Given the description of an element on the screen output the (x, y) to click on. 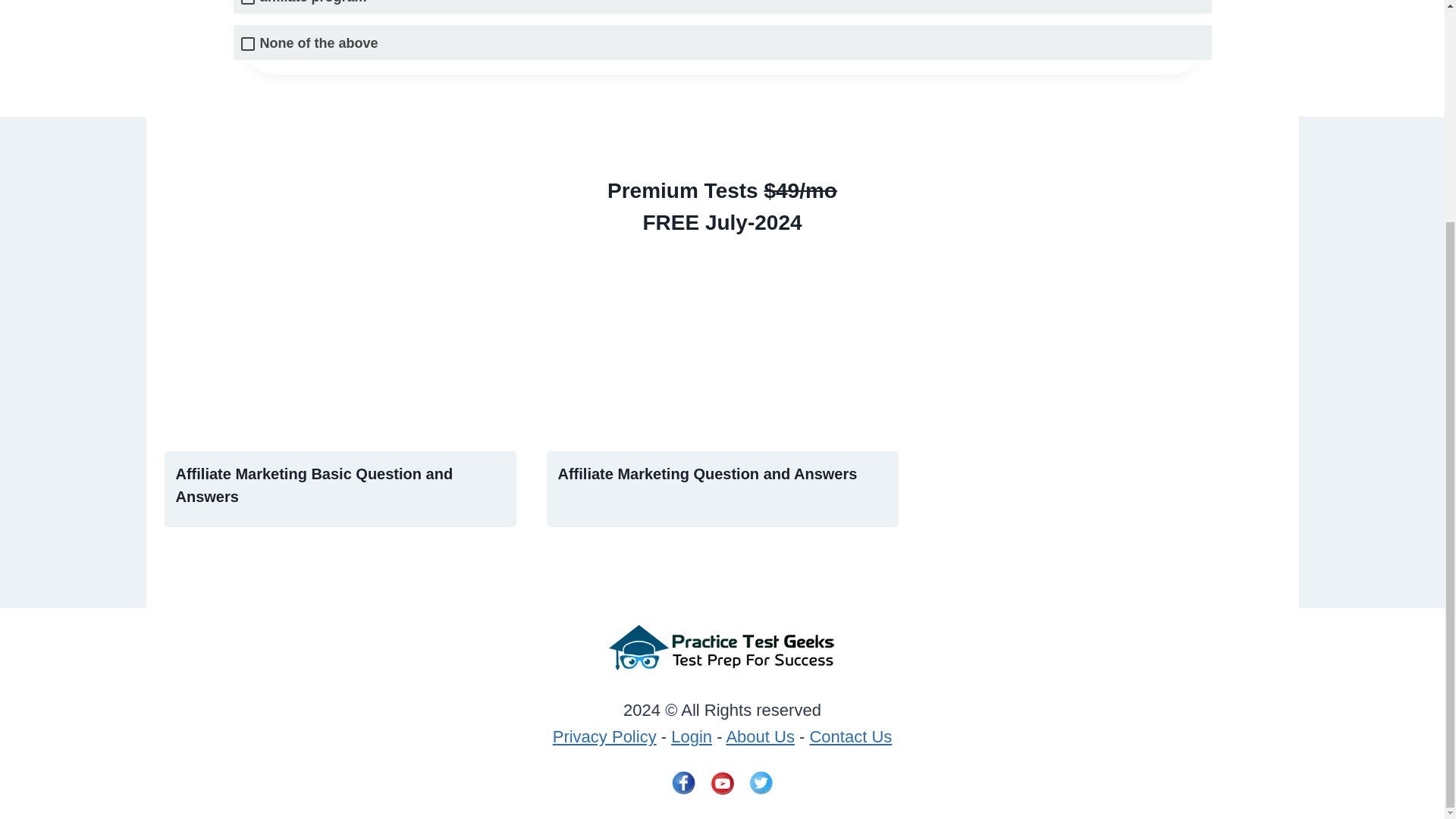
Login (691, 736)
Contact Us (850, 736)
Privacy Policy (604, 736)
Affiliate Marketing Question and Answers (707, 474)
About Us (759, 736)
Affiliate Marketing Basic Question and Answers (314, 485)
